Given the description of an element on the screen output the (x, y) to click on. 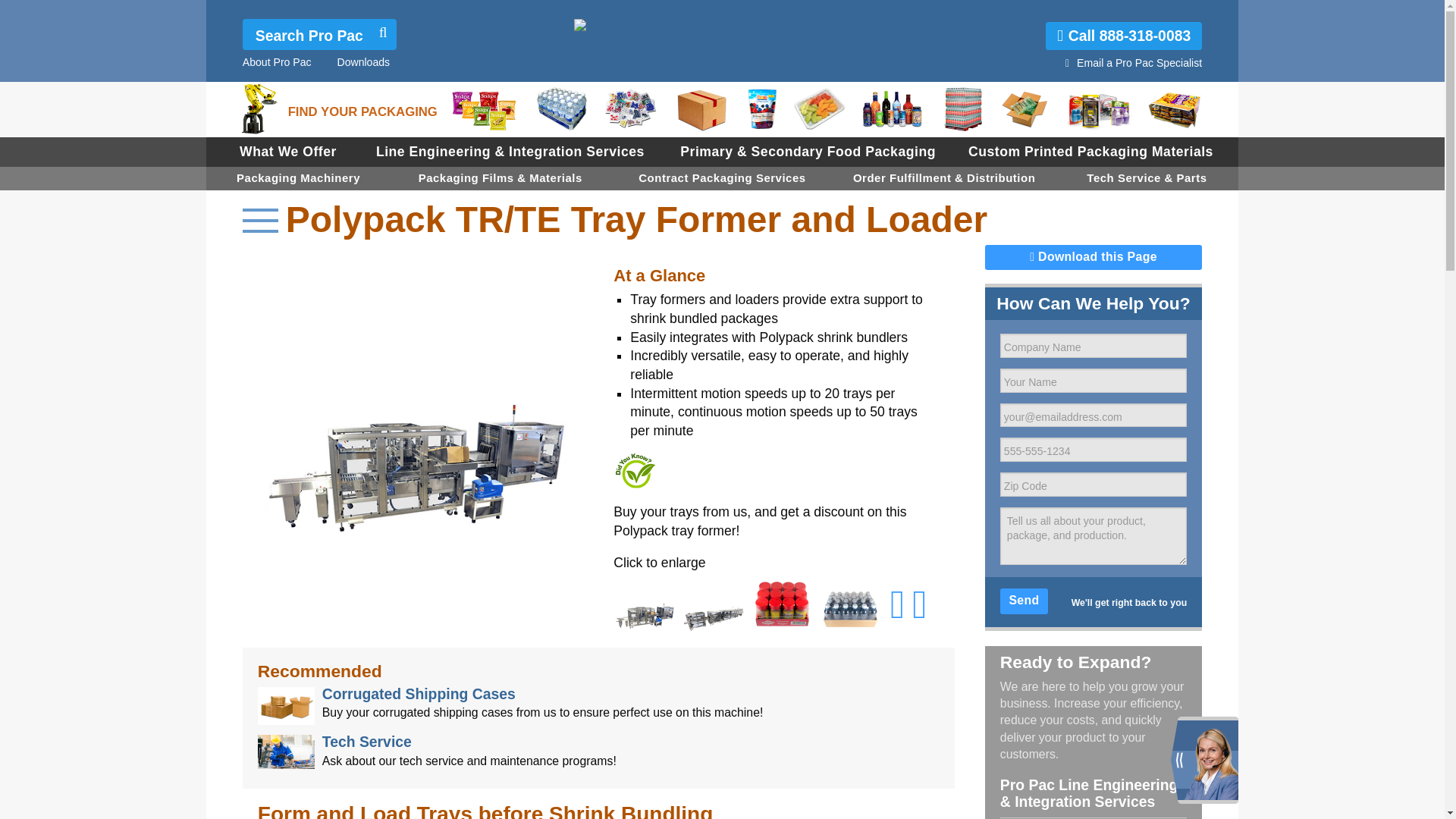
Email a Pro Pac Specialist (1139, 62)
About Pro Pac (277, 61)
FIND YOUR PACKAGING (363, 111)
Polypack TR Tray Former and Loader (645, 603)
Downloads (363, 61)
Polypack TR Tray Former and Loader Example Package (850, 603)
Polypack TR Tray Former and Loader Example Package (781, 603)
Polypack TR Tray Former and Loader (713, 603)
